Given the description of an element on the screen output the (x, y) to click on. 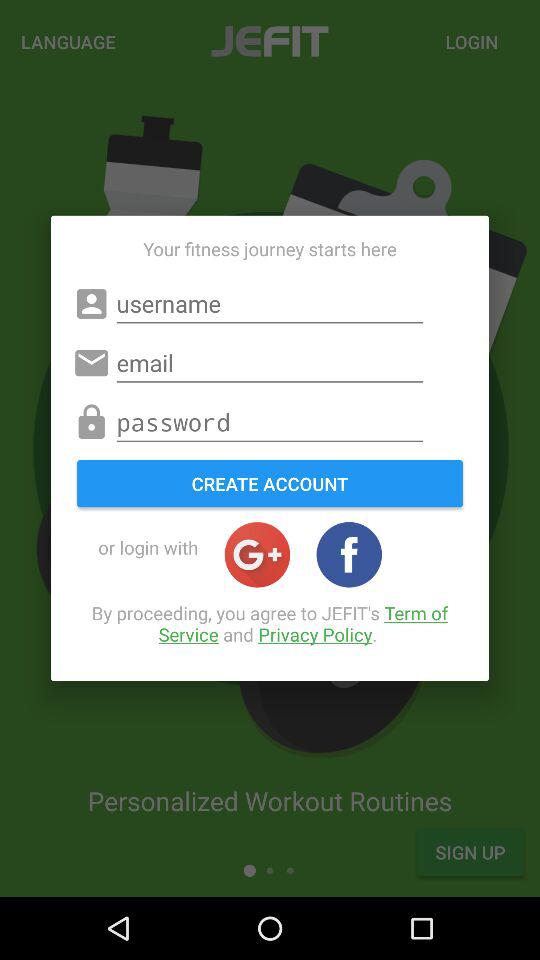
email line (269, 363)
